Given the description of an element on the screen output the (x, y) to click on. 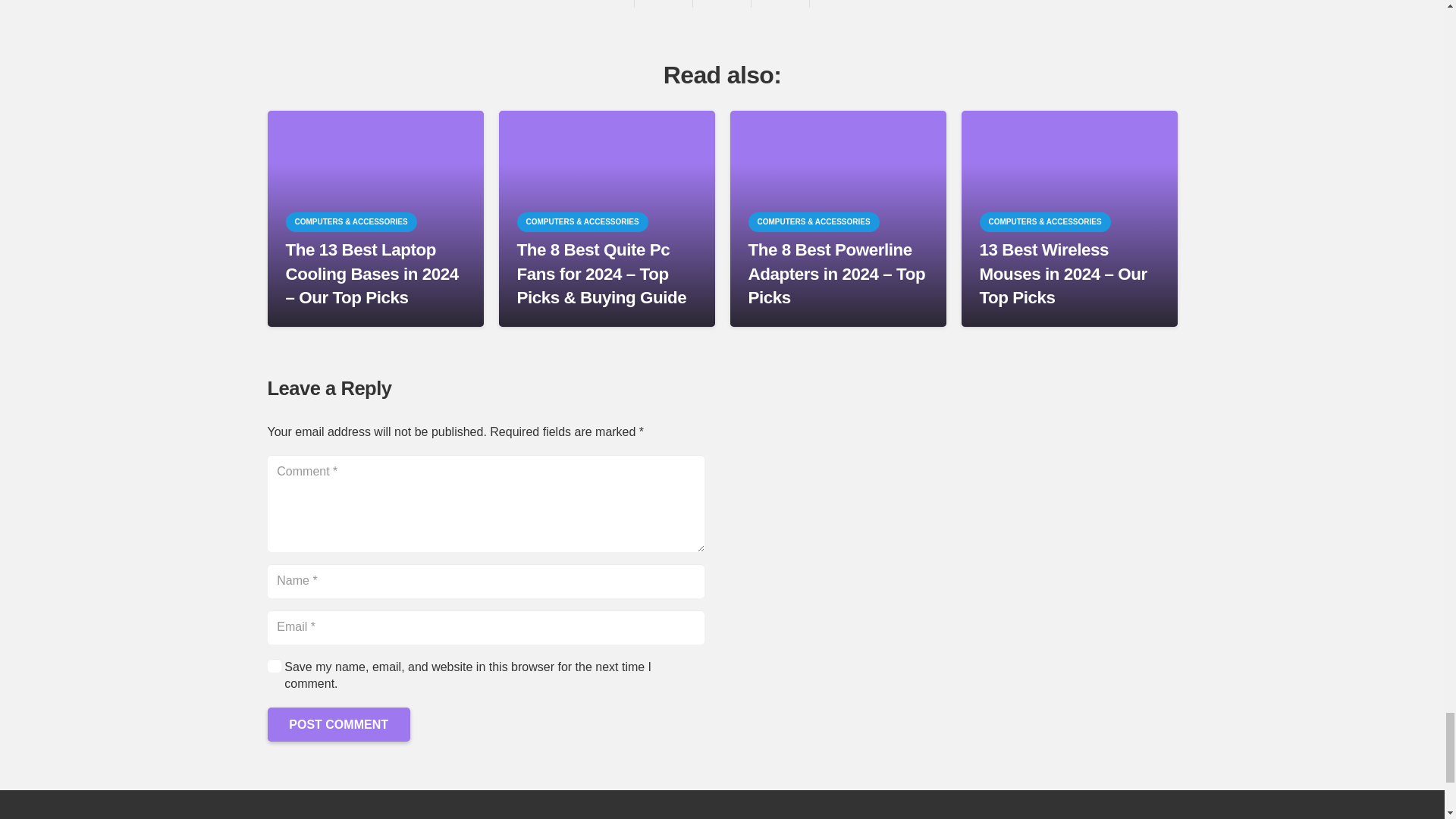
1 (273, 665)
